Given the description of an element on the screen output the (x, y) to click on. 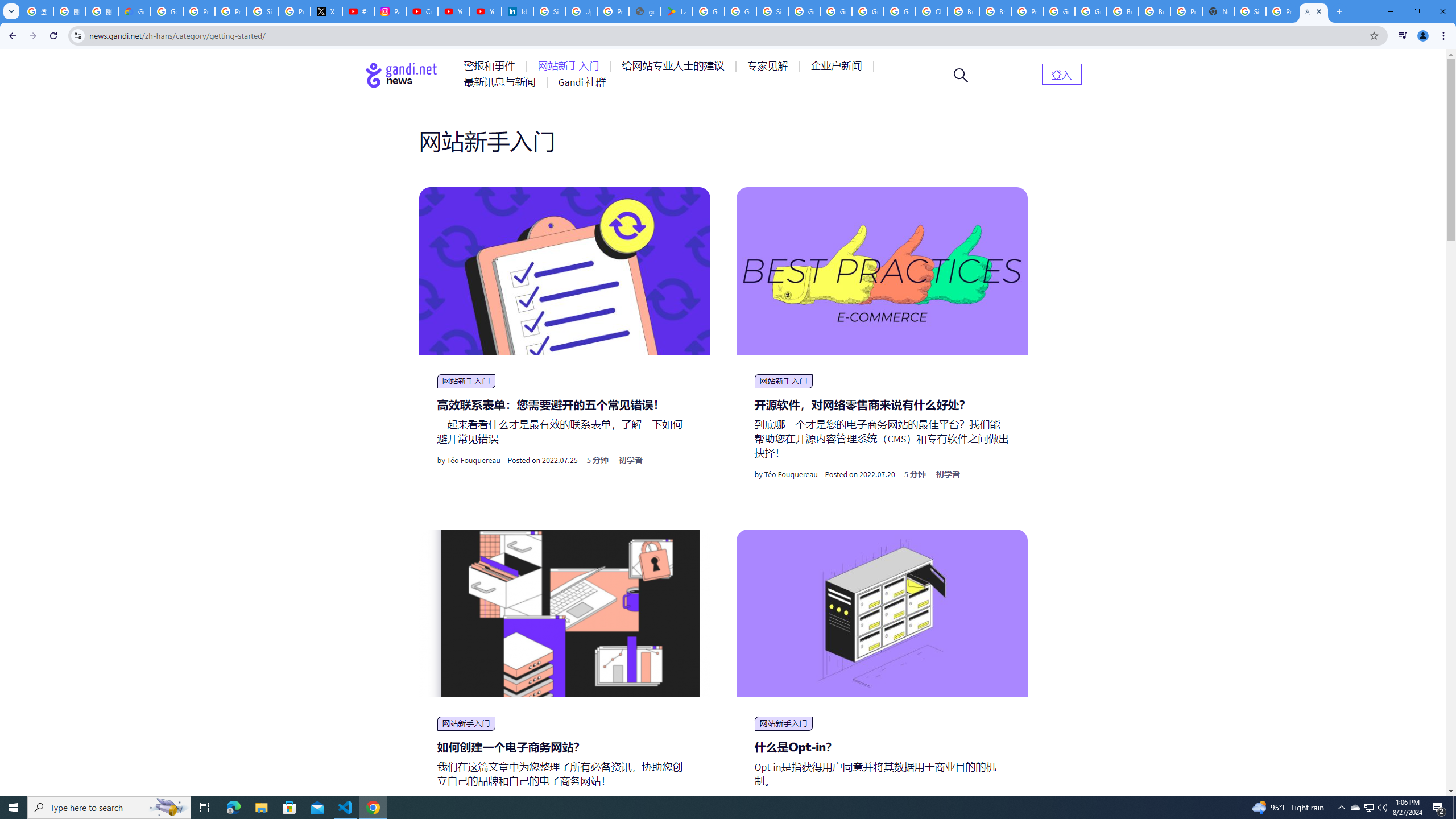
AutomationID: menu-item-77764 (769, 65)
Browse Chrome as a guest - Computer - Google Chrome Help (1123, 11)
AutomationID: menu-item-77762 (570, 65)
Sign in - Google Accounts (262, 11)
Google Cloud Platform (868, 11)
Sign in - Google Accounts (1249, 11)
Google Workspace - Specific Terms (740, 11)
